Given the description of an element on the screen output the (x, y) to click on. 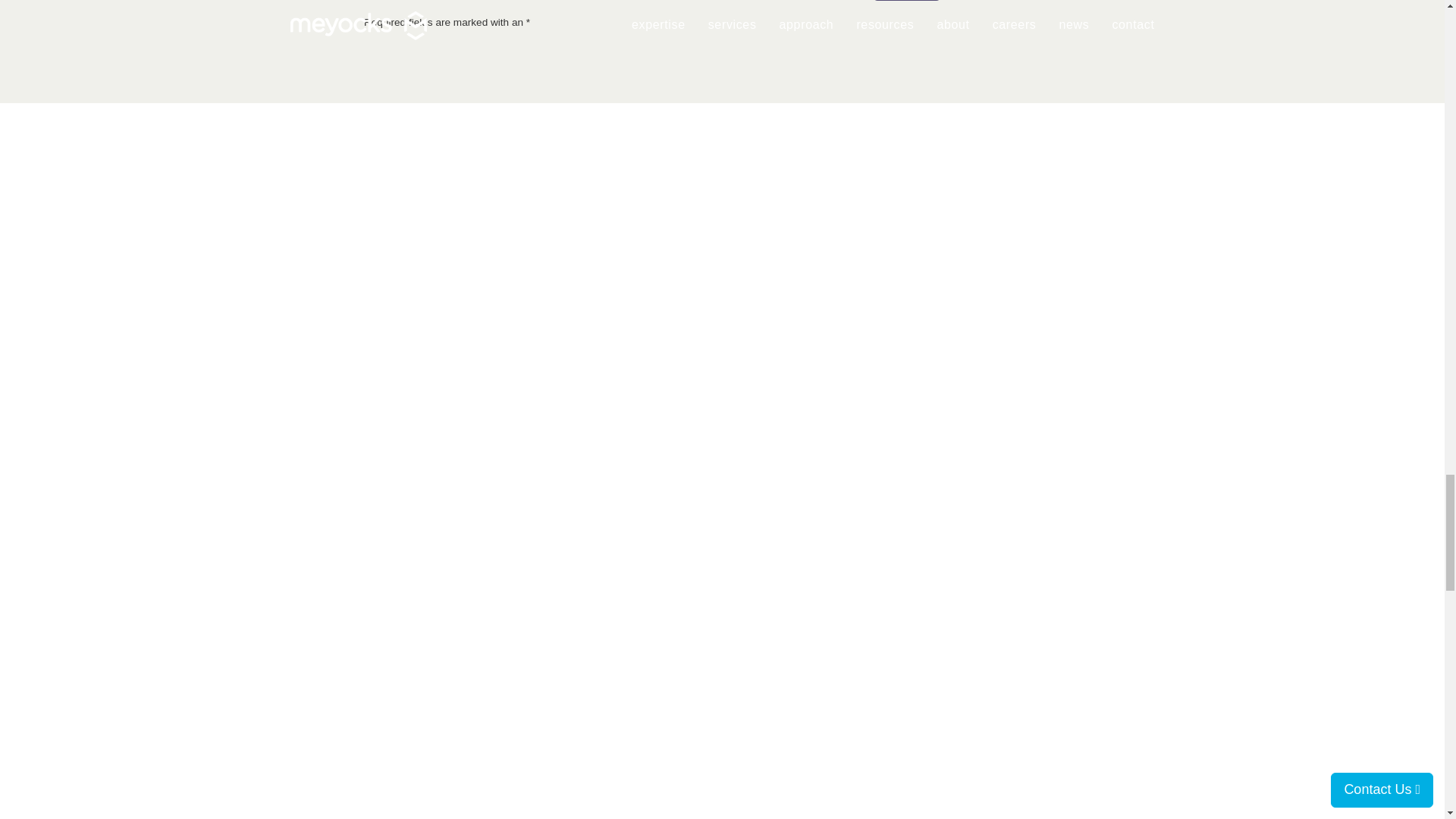
Submit (906, 0)
View case study (722, 759)
View case study (722, 674)
View case study (722, 257)
View case study (722, 591)
View case study (722, 340)
View case study (722, 507)
View case study (722, 173)
View case study (722, 424)
